Given the description of an element on the screen output the (x, y) to click on. 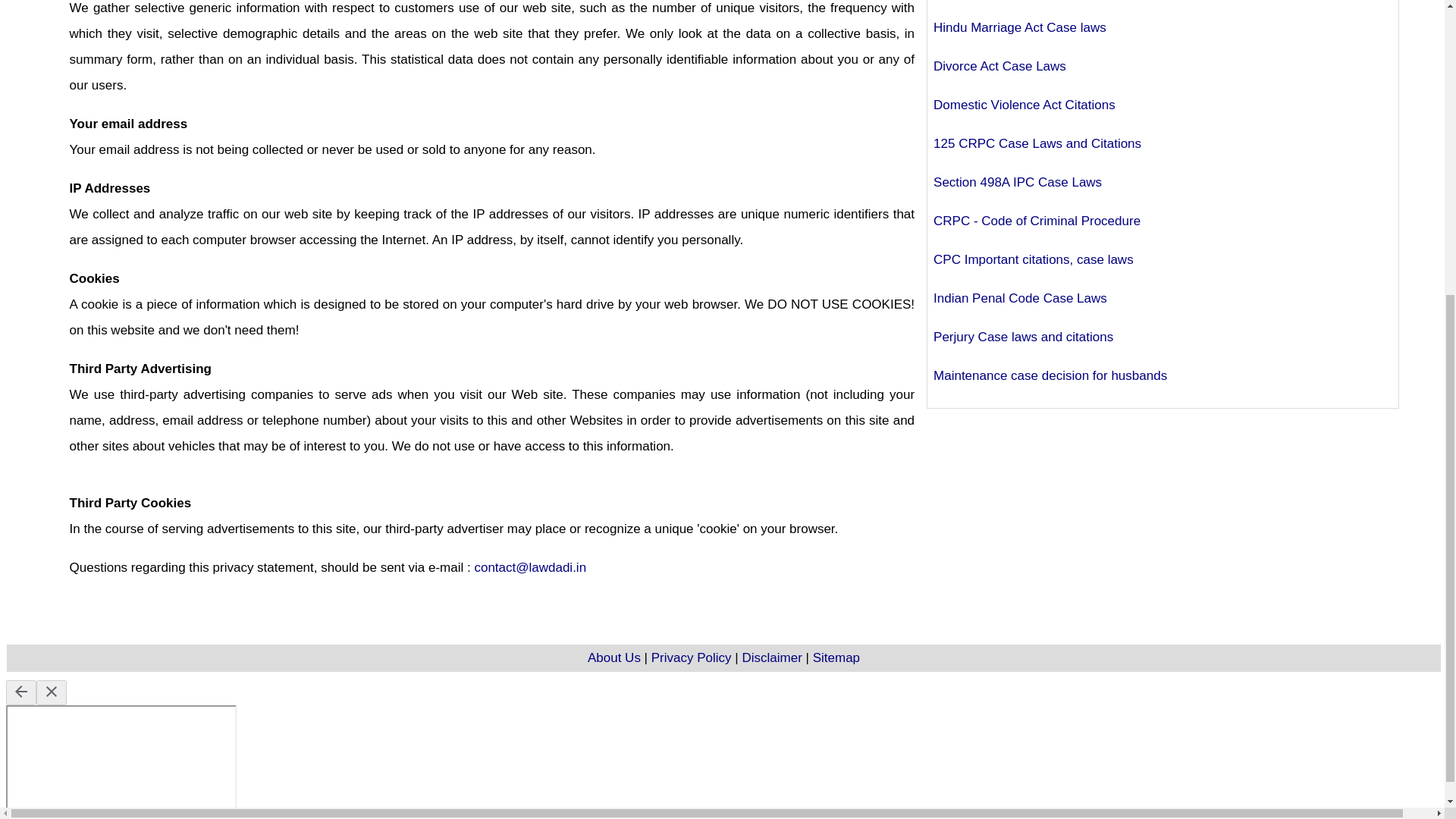
Indian Penal Code Case Laws (1019, 298)
125 CRPC Case Laws and Citations (1037, 143)
Domestic Violence Act Citations (1024, 104)
Perjury Case laws and citations (1023, 336)
About Us (614, 657)
CPC Important citations, case laws (1033, 259)
Privacy Policy (691, 657)
CRPC - Code of Criminal Procedure (1036, 220)
Maintenance case decision for husbands (1050, 375)
Section 498A IPC Case Laws (1017, 182)
Hindu Marriage Act Case laws (1019, 27)
Sitemap (836, 657)
Disclaimer (771, 657)
Divorce Act Case Laws (999, 65)
